Given the description of an element on the screen output the (x, y) to click on. 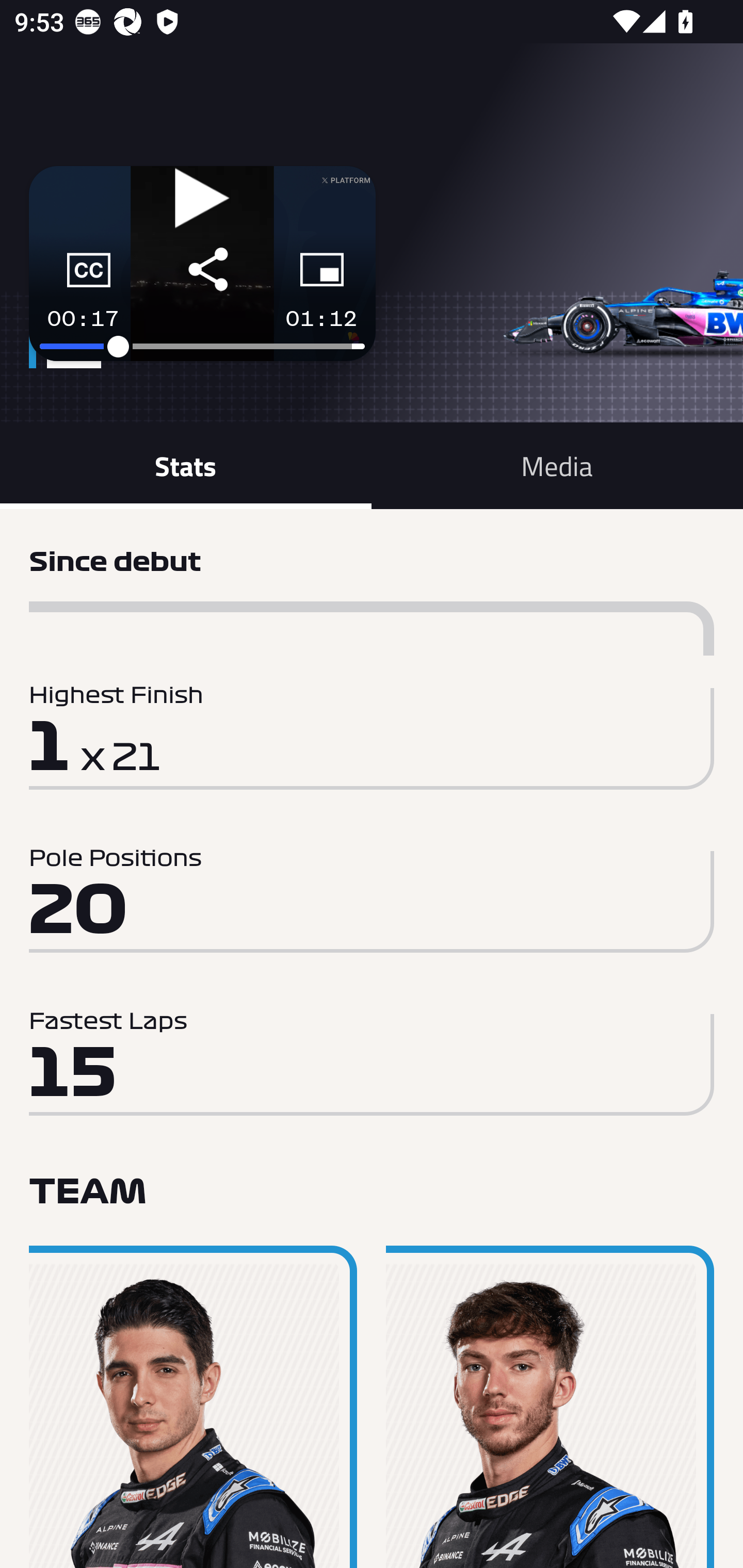
Media (557, 465)
